Given the description of an element on the screen output the (x, y) to click on. 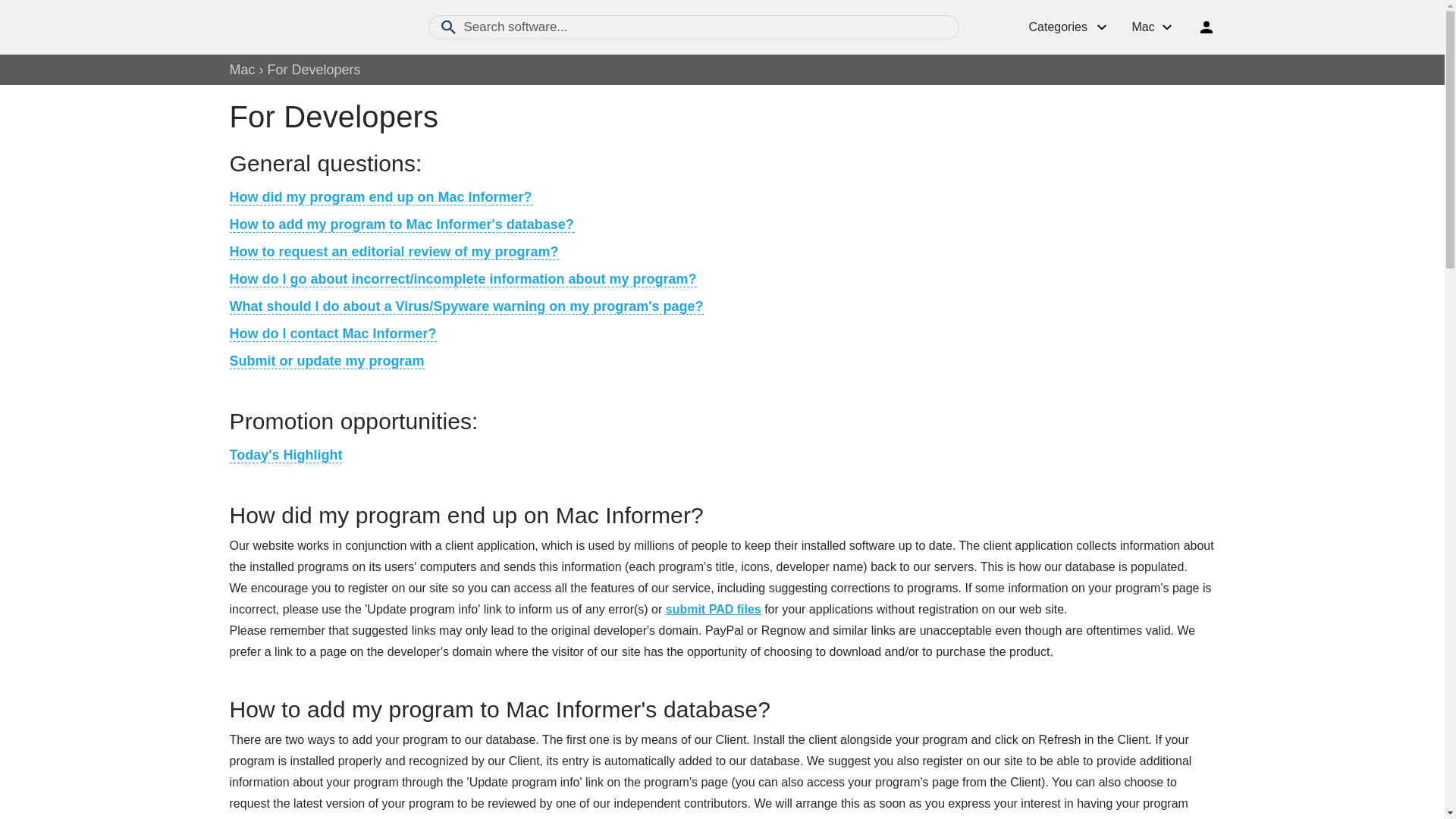
How did my program end up on Mac Informer? (379, 197)
Search (452, 27)
Submit or update my program (325, 360)
Software downloads and reviews (312, 26)
How do I contact Mac Informer? (331, 333)
Today's Highlight (285, 455)
submit PAD files (713, 608)
Mac (241, 69)
